Given the description of an element on the screen output the (x, y) to click on. 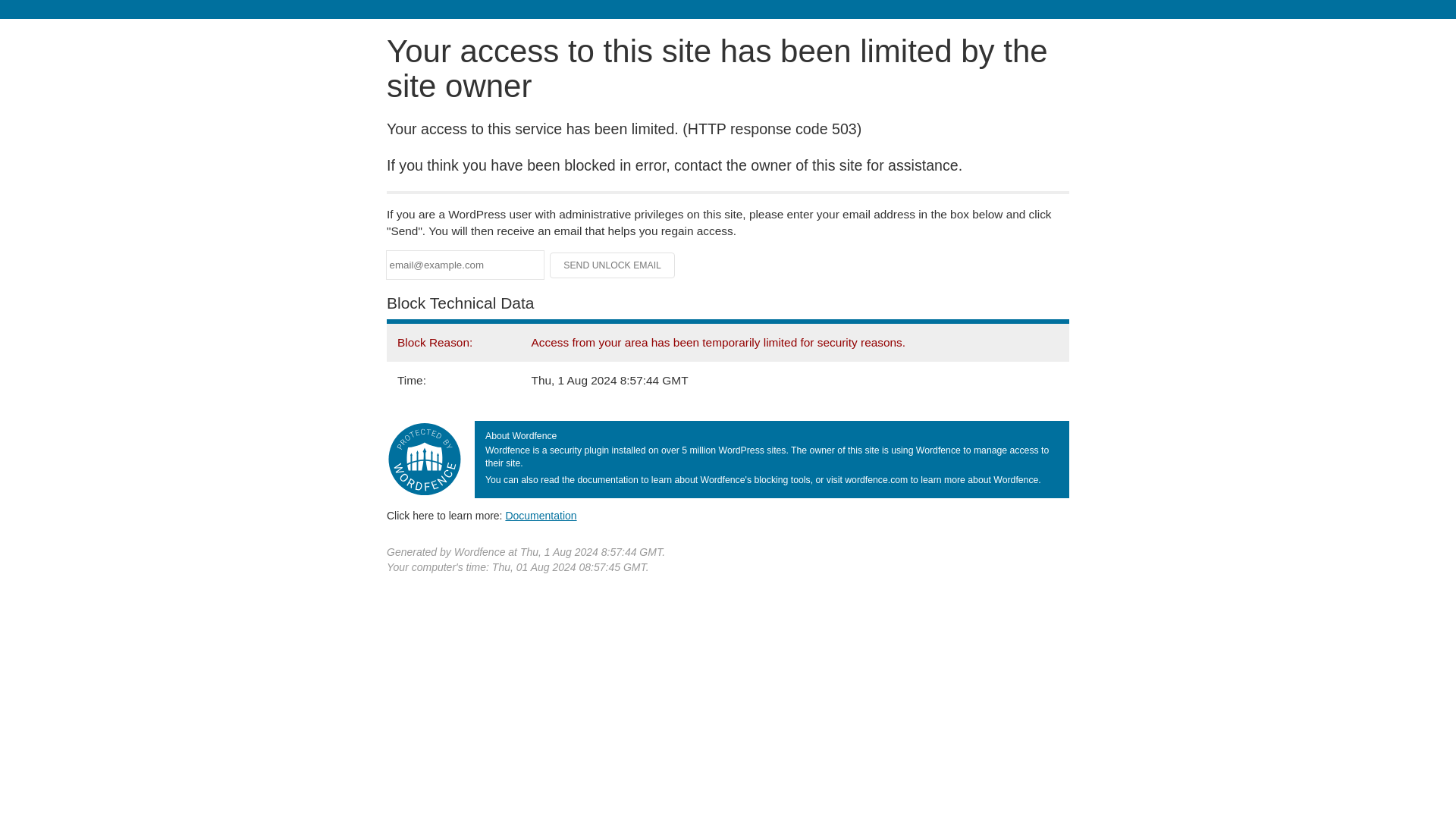
Send Unlock Email (612, 265)
Documentation (540, 515)
Send Unlock Email (612, 265)
